Given the description of an element on the screen output the (x, y) to click on. 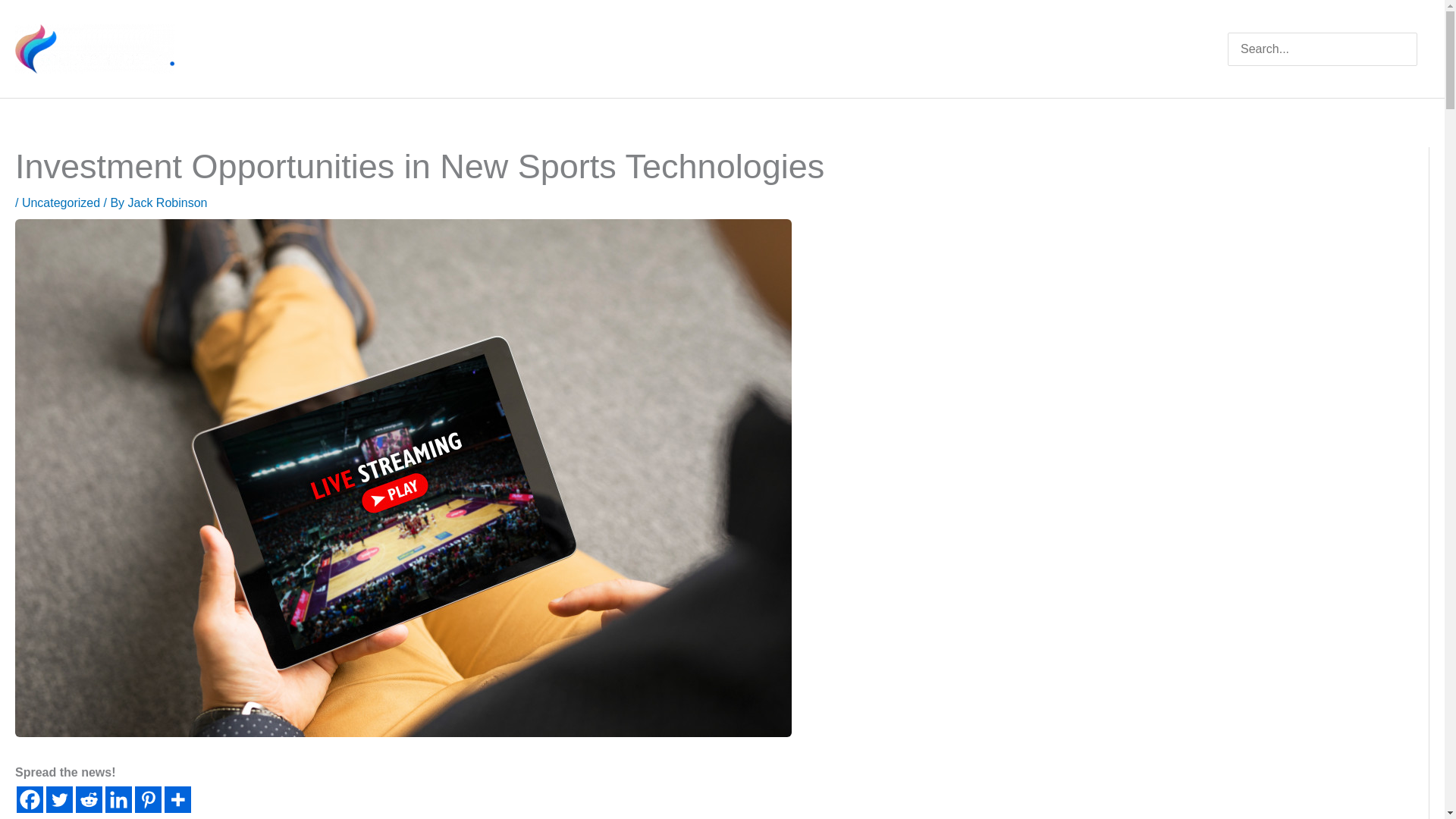
Reddit (88, 799)
Linkedin (118, 799)
Uncategorized (60, 202)
Pinterest (148, 799)
Household Finances (971, 48)
View all posts by Jack Robinson (168, 202)
Business (1175, 48)
Twitter (59, 799)
Facebook (29, 799)
Jack Robinson (168, 202)
